Given the description of an element on the screen output the (x, y) to click on. 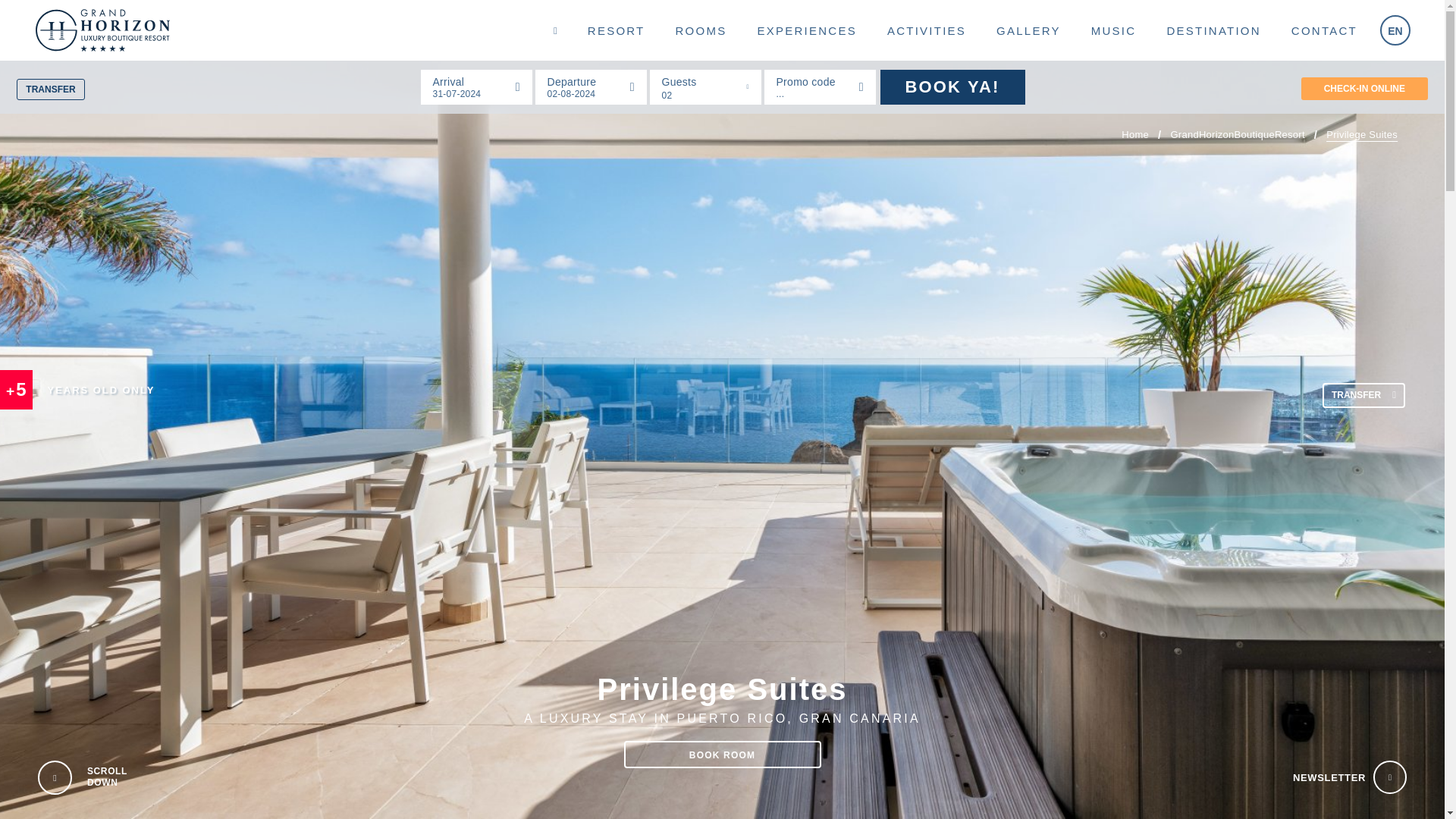
DESTINATION (1213, 29)
BOOK ROOM (722, 754)
GALLERY (1028, 29)
EXPERIENCES (805, 29)
MUSIC (1113, 29)
RESORT (616, 29)
CHECK-IN ONLINE (1364, 87)
02-08-2024 (590, 87)
SCROLL DOWN (114, 777)
TRANSFER (1363, 395)
ACTIVITIES (926, 29)
TRANSFER (49, 88)
BOOK YA! (952, 86)
31-07-2024 (476, 87)
SCROLL DOWN (54, 778)
